Given the description of an element on the screen output the (x, y) to click on. 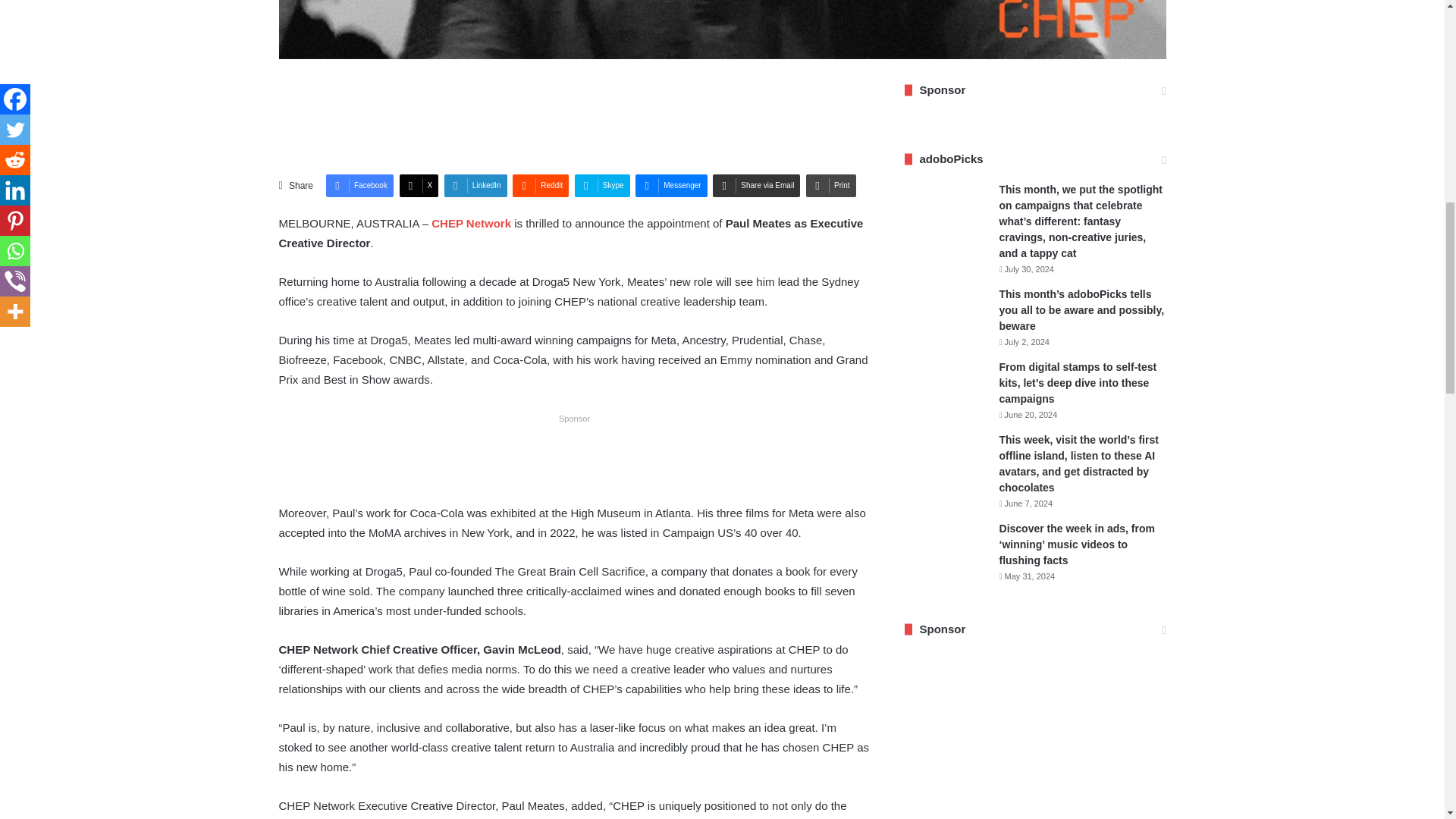
Skype (602, 185)
X (418, 185)
Facebook (359, 185)
LinkedIn (475, 185)
Share via Email (756, 185)
Reddit (540, 185)
Messenger (670, 185)
